Given the description of an element on the screen output the (x, y) to click on. 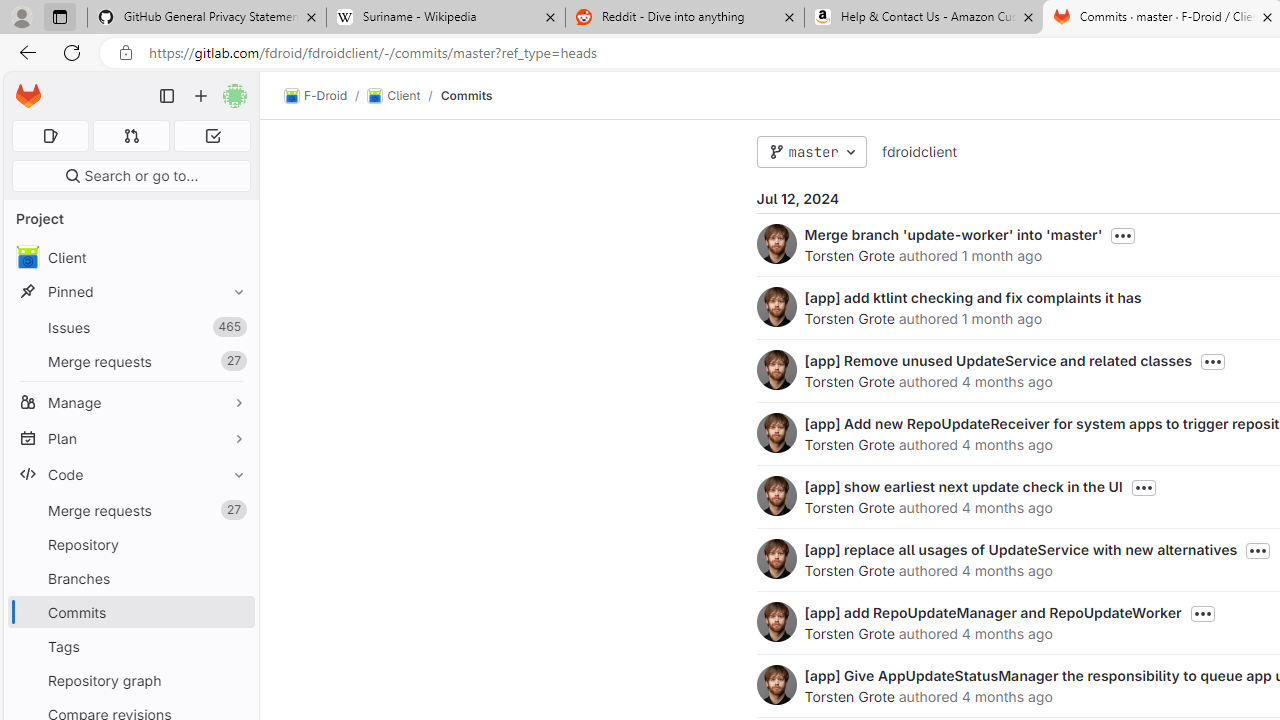
[app] show earliest next update check in the UI (962, 486)
F-Droid/ (326, 96)
Torsten Grote's avatar (776, 684)
Assigned issues 0 (50, 136)
Repository (130, 543)
Branches (130, 578)
Primary navigation sidebar (167, 96)
Tags (130, 646)
F-Droid (316, 96)
Create new... (201, 96)
Toggle commit description (1202, 614)
master (811, 151)
Unpin Issues (234, 327)
